Given the description of an element on the screen output the (x, y) to click on. 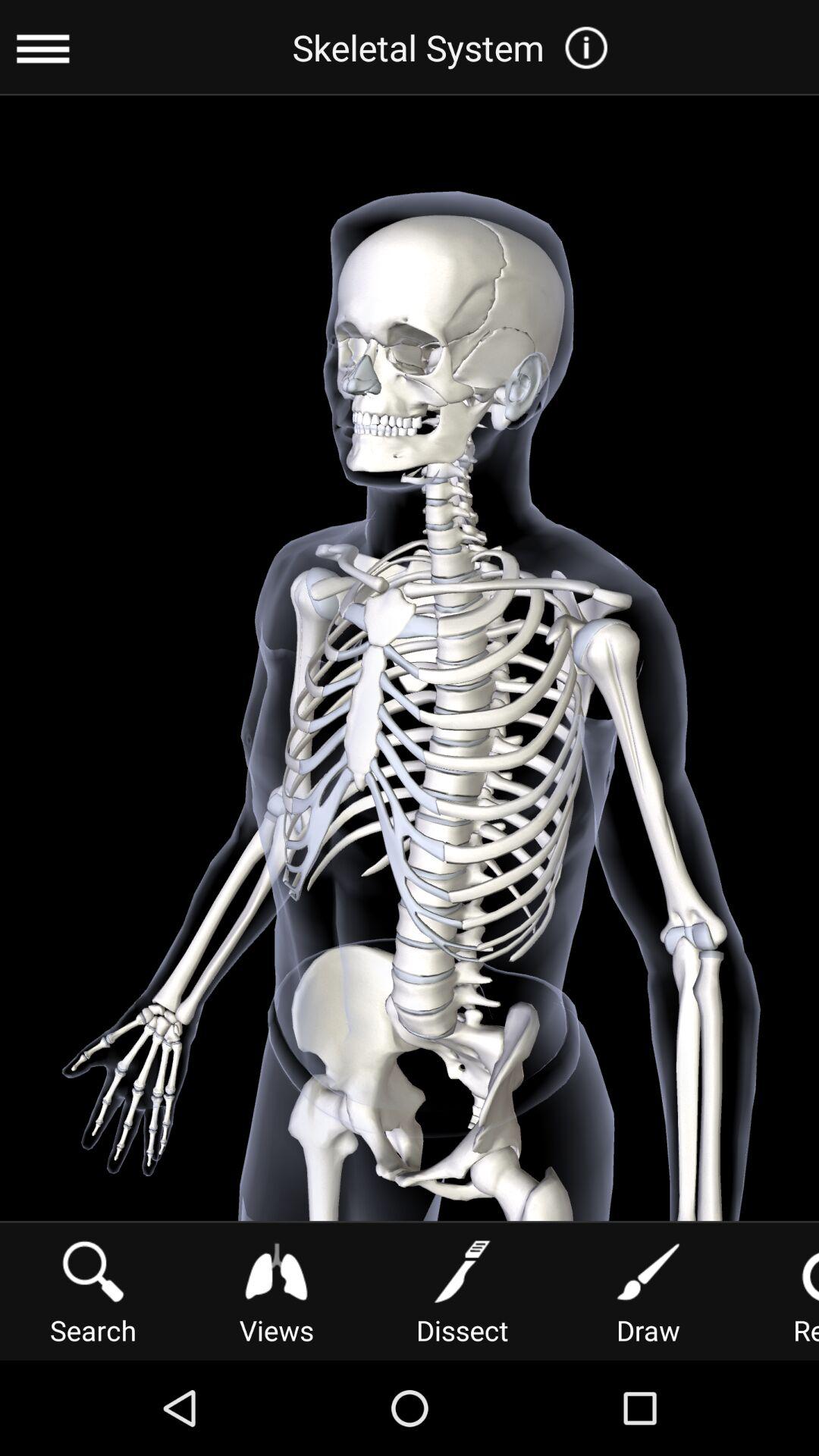
open the item next to the reset button (648, 1290)
